Given the description of an element on the screen output the (x, y) to click on. 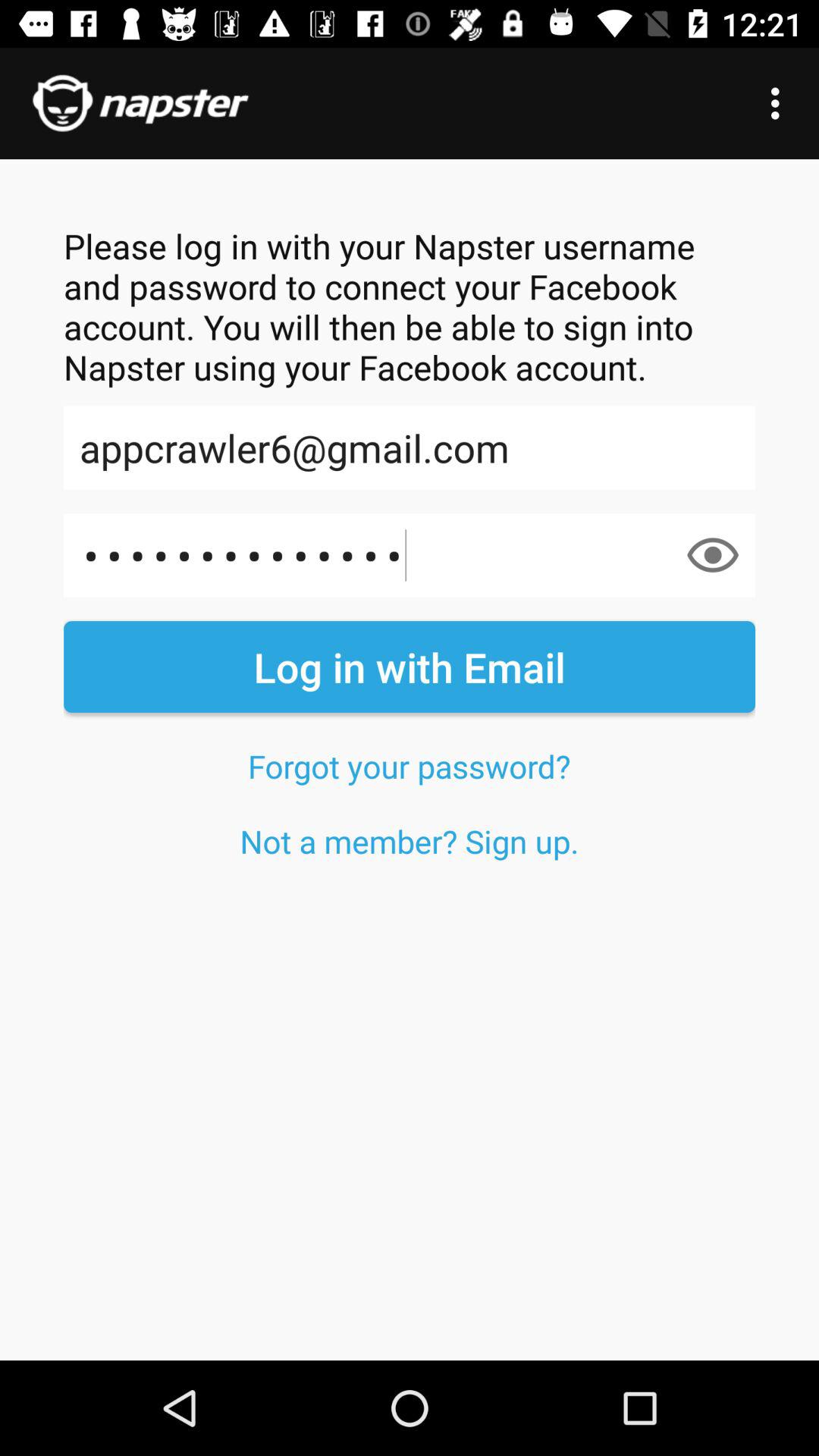
turn on icon below appcrawler6@gmail.com (409, 555)
